Given the description of an element on the screen output the (x, y) to click on. 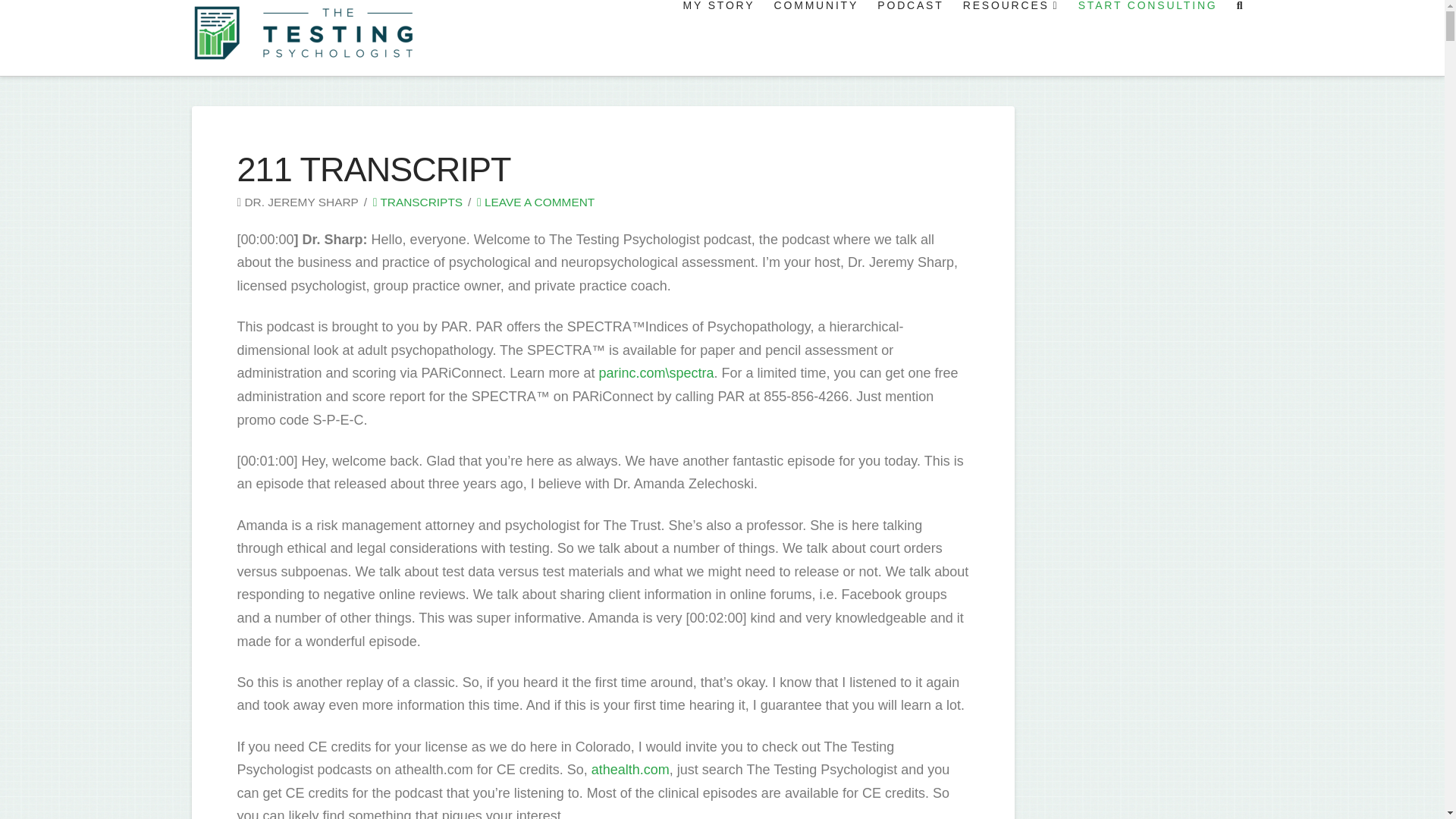
START CONSULTING (1146, 38)
LEAVE A COMMENT (535, 201)
RESOURCES (1009, 38)
athealth.com (630, 769)
TRANSCRIPTS (417, 201)
COMMUNITY (814, 38)
PODCAST (909, 38)
MY STORY (717, 38)
